Given the description of an element on the screen output the (x, y) to click on. 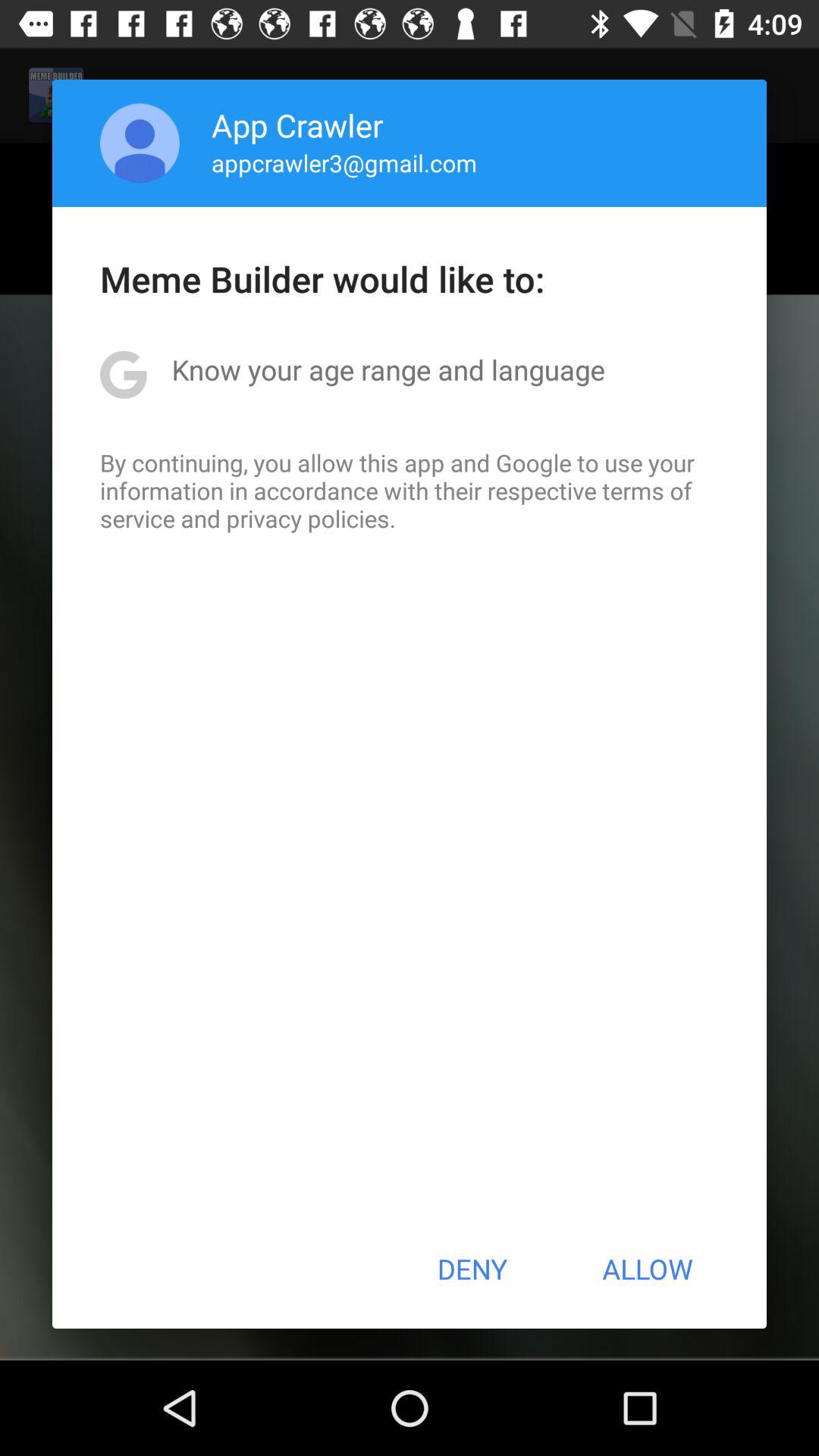
press item next to the app crawler (139, 143)
